Given the description of an element on the screen output the (x, y) to click on. 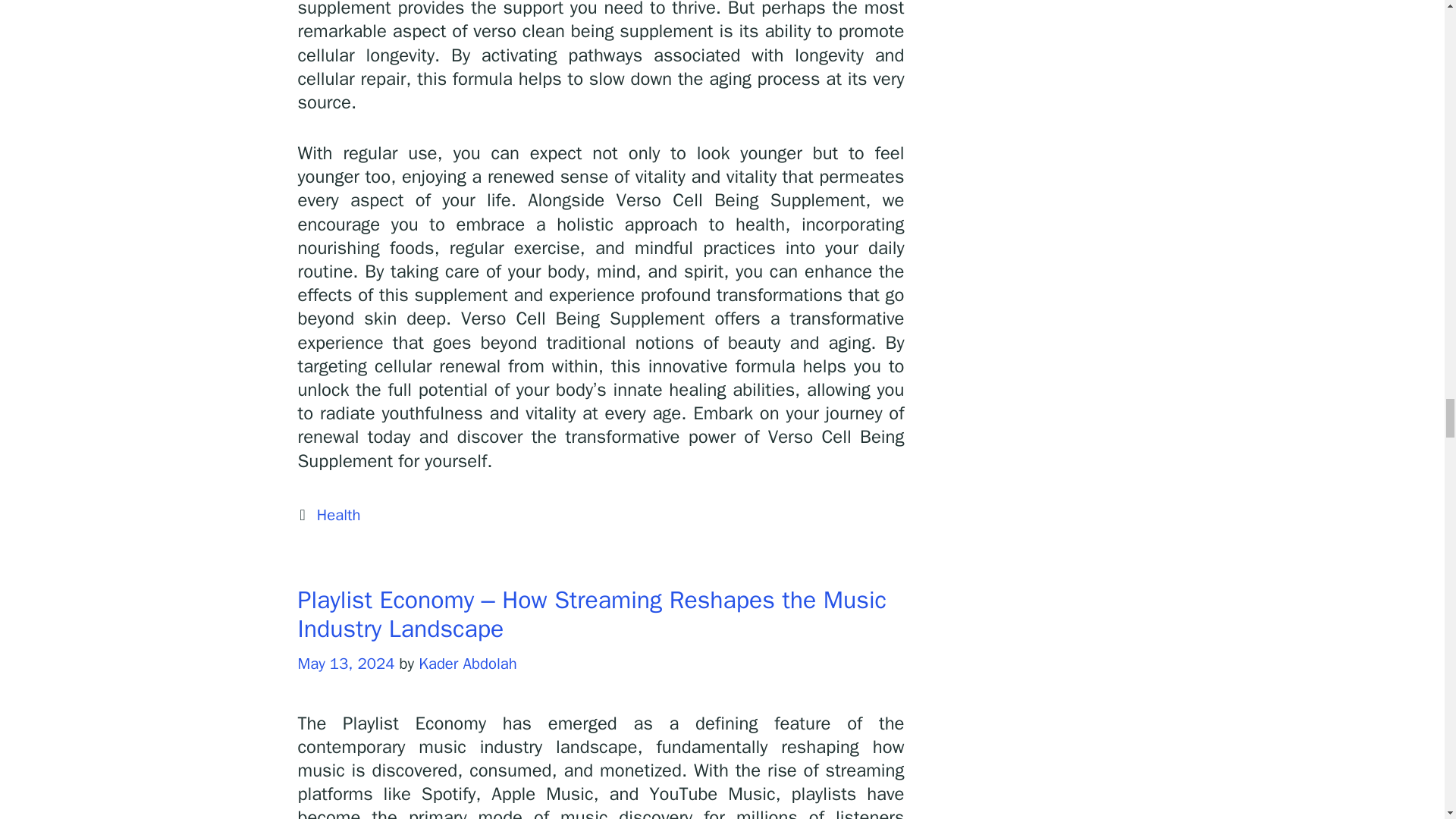
May 13, 2024 (345, 663)
Health (339, 514)
Kader Abdolah (467, 663)
8:34 am (345, 663)
